Given the description of an element on the screen output the (x, y) to click on. 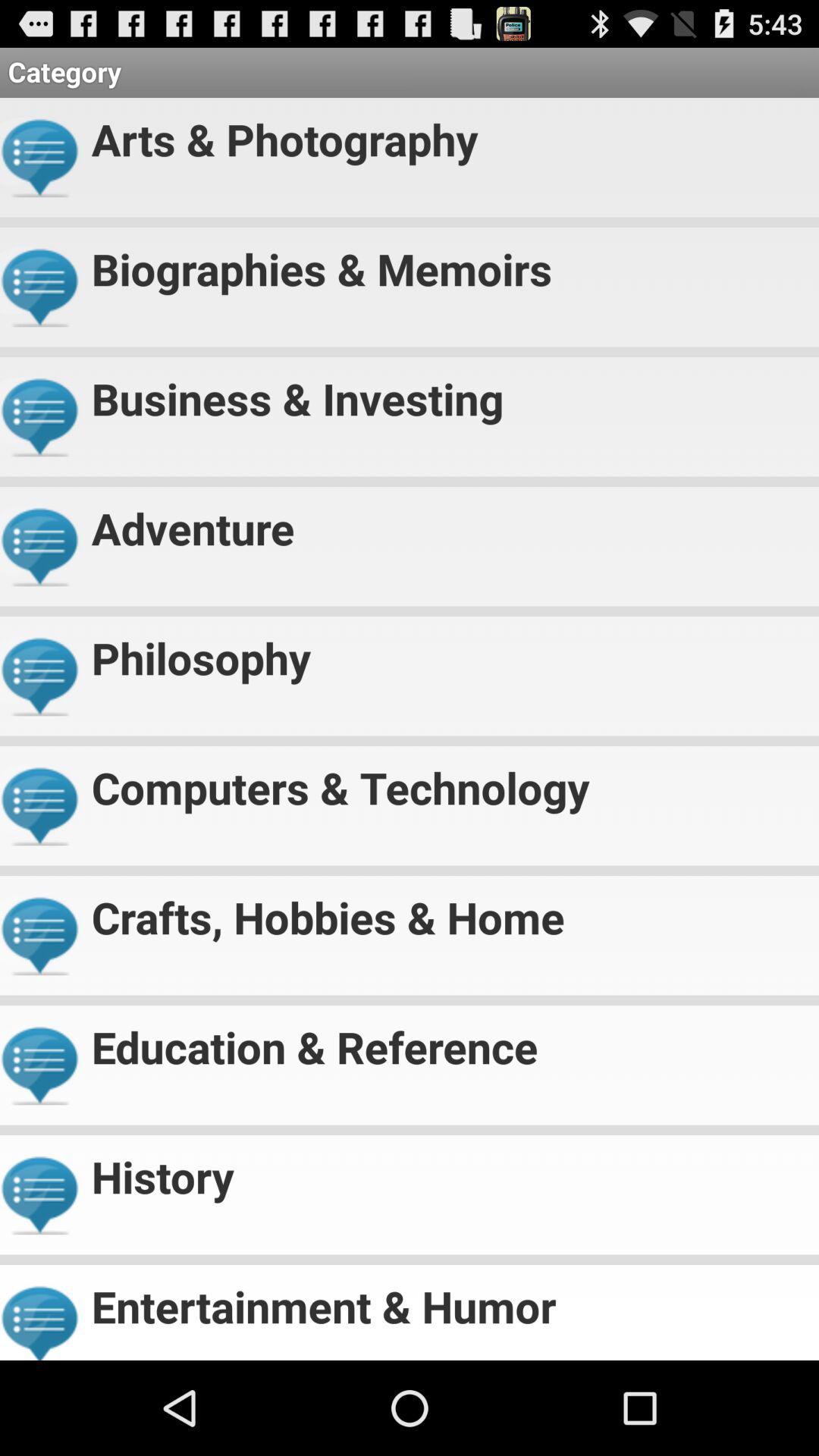
turn on adventure app (449, 521)
